Given the description of an element on the screen output the (x, y) to click on. 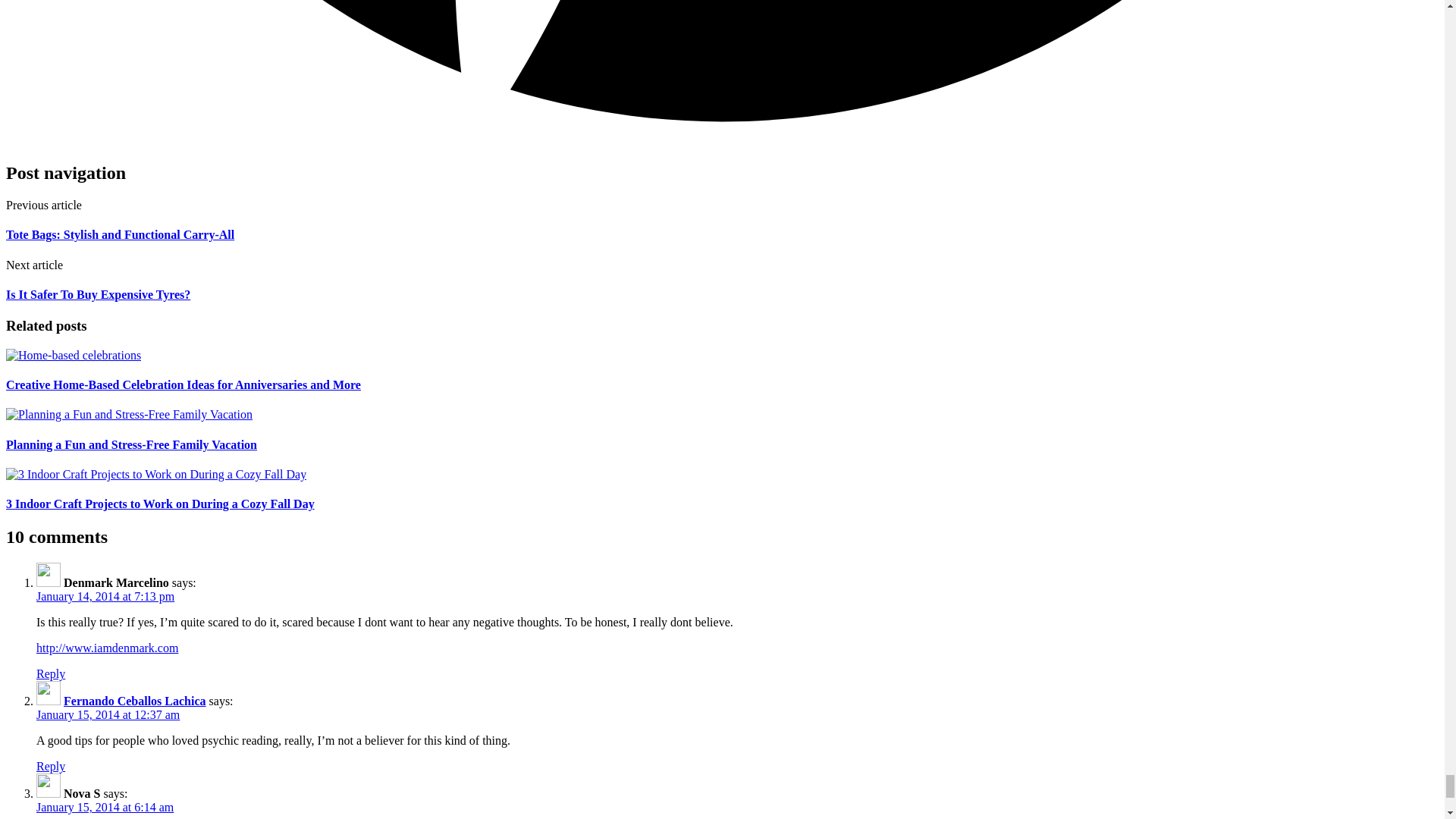
Home-based celebrations (73, 355)
Planning a Fun and Stress-Free Family Vacation (128, 414)
3 Indoor Craft Projects to Work on During a Cozy Fall Day (155, 474)
